Given the description of an element on the screen output the (x, y) to click on. 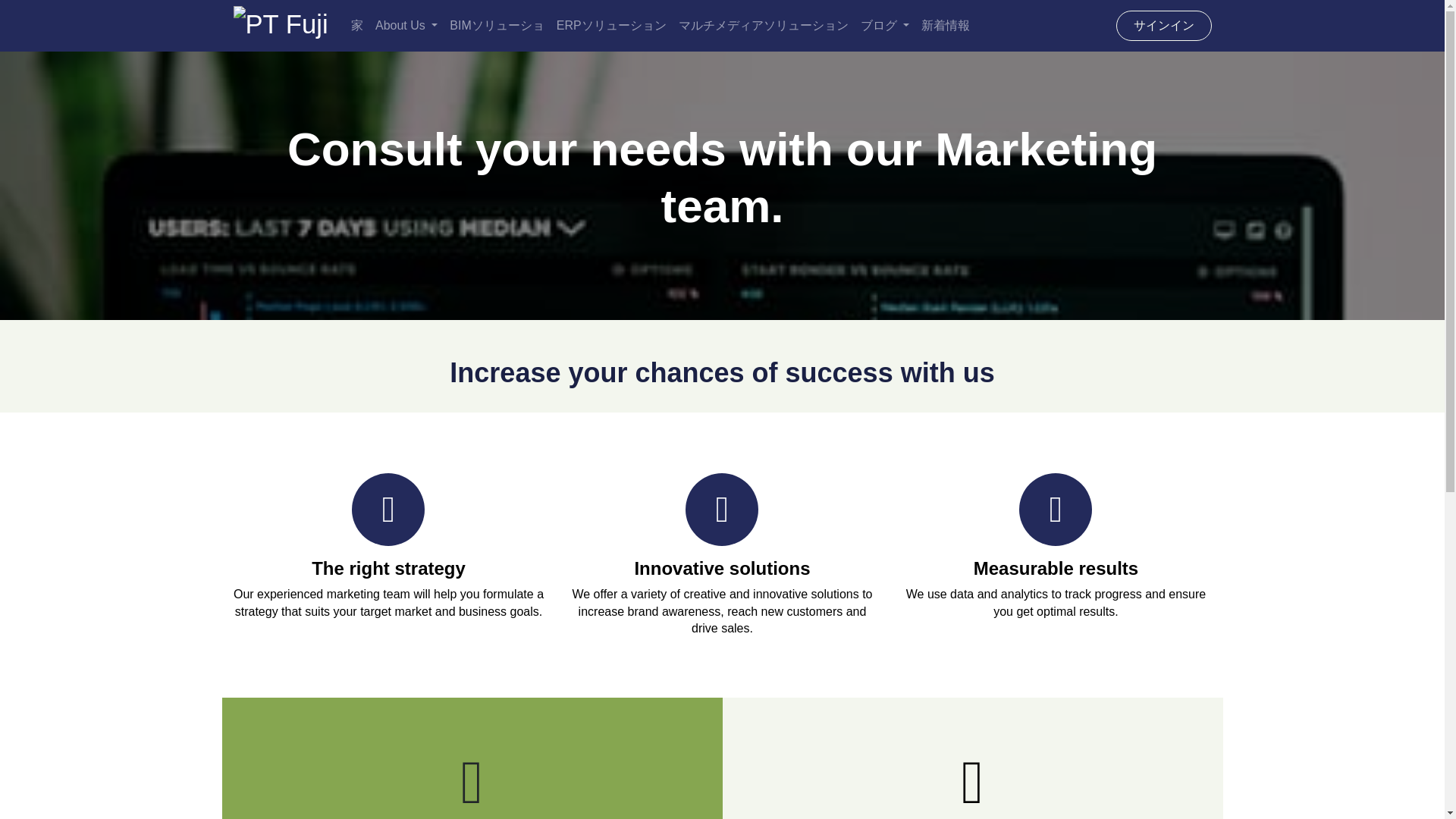
PT Fujicon Priangan Perdana (279, 25)
About Us (406, 25)
